Given the description of an element on the screen output the (x, y) to click on. 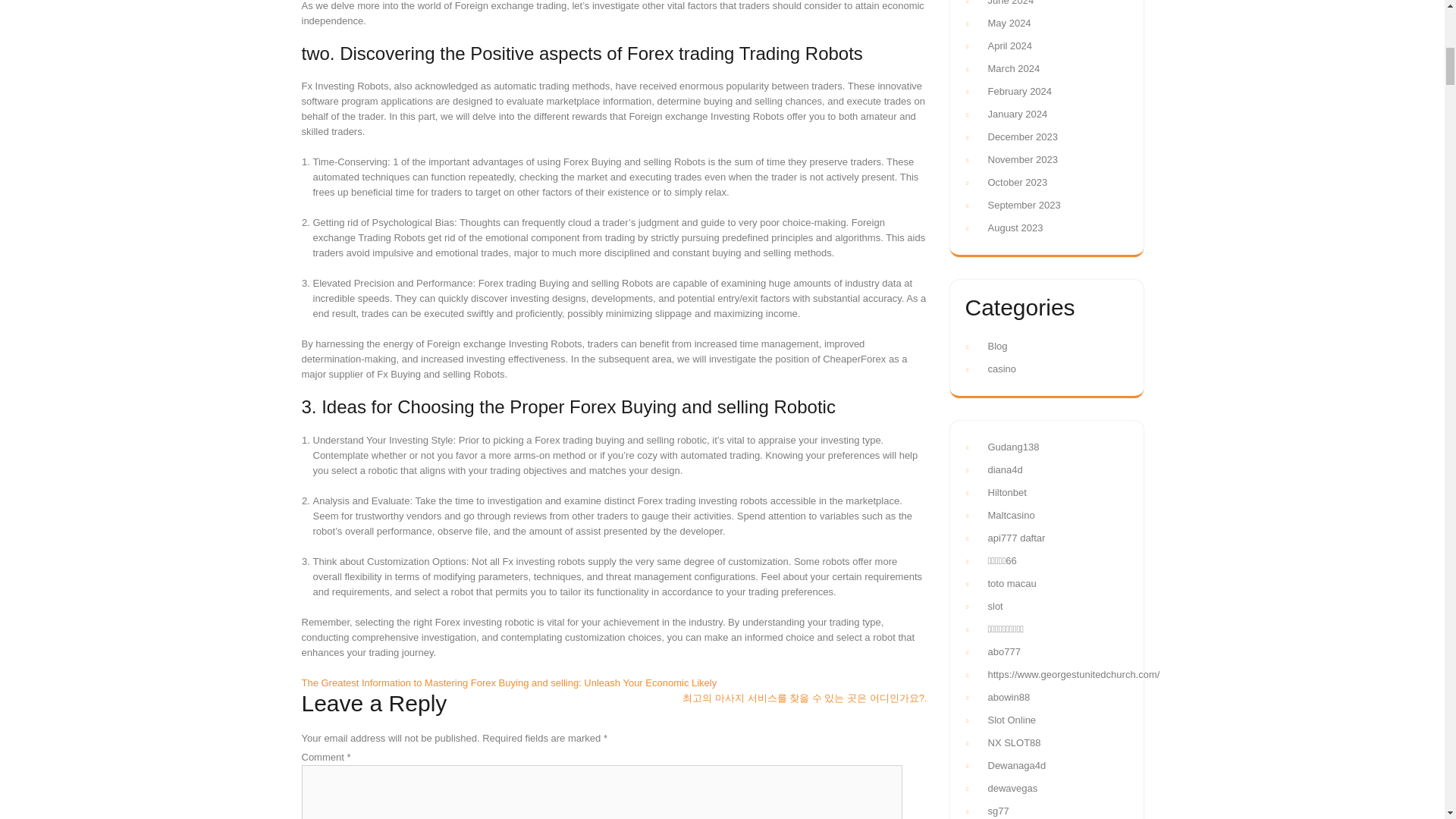
Maltcasino (1010, 514)
Blog (997, 346)
September 2023 (1023, 204)
October 2023 (1016, 182)
slot (995, 605)
Hiltonbet (1006, 491)
February 2024 (1019, 91)
toto macau (1011, 583)
August 2023 (1014, 227)
November 2023 (1022, 159)
December 2023 (1022, 136)
diana4d (1004, 469)
Gudang138 (1013, 446)
May 2024 (1008, 22)
